Given the description of an element on the screen output the (x, y) to click on. 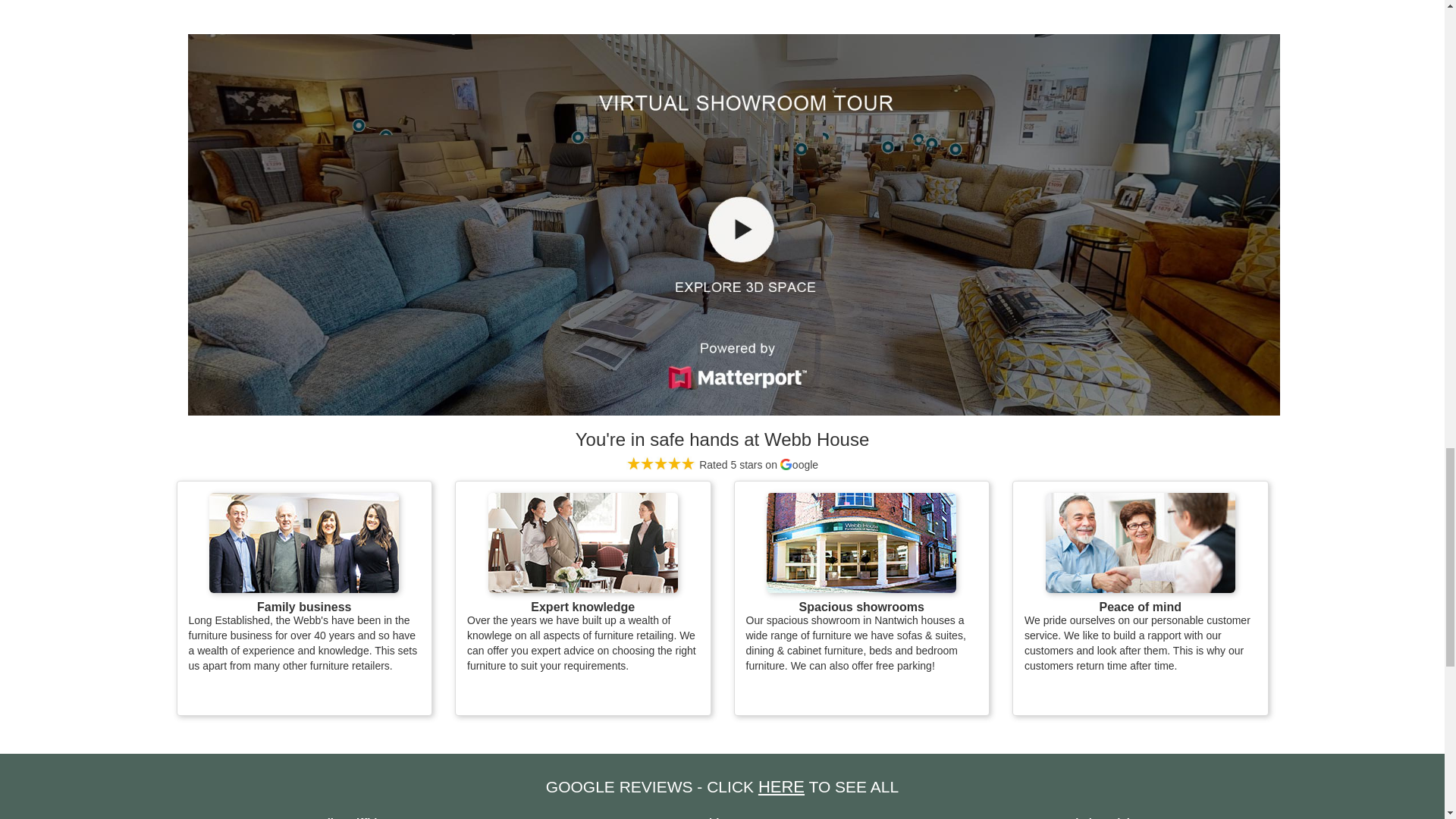
Knowledgeable staff (582, 542)
Howard and Joan (303, 542)
Click to read our reviews on Google. (722, 464)
